Given the description of an element on the screen output the (x, y) to click on. 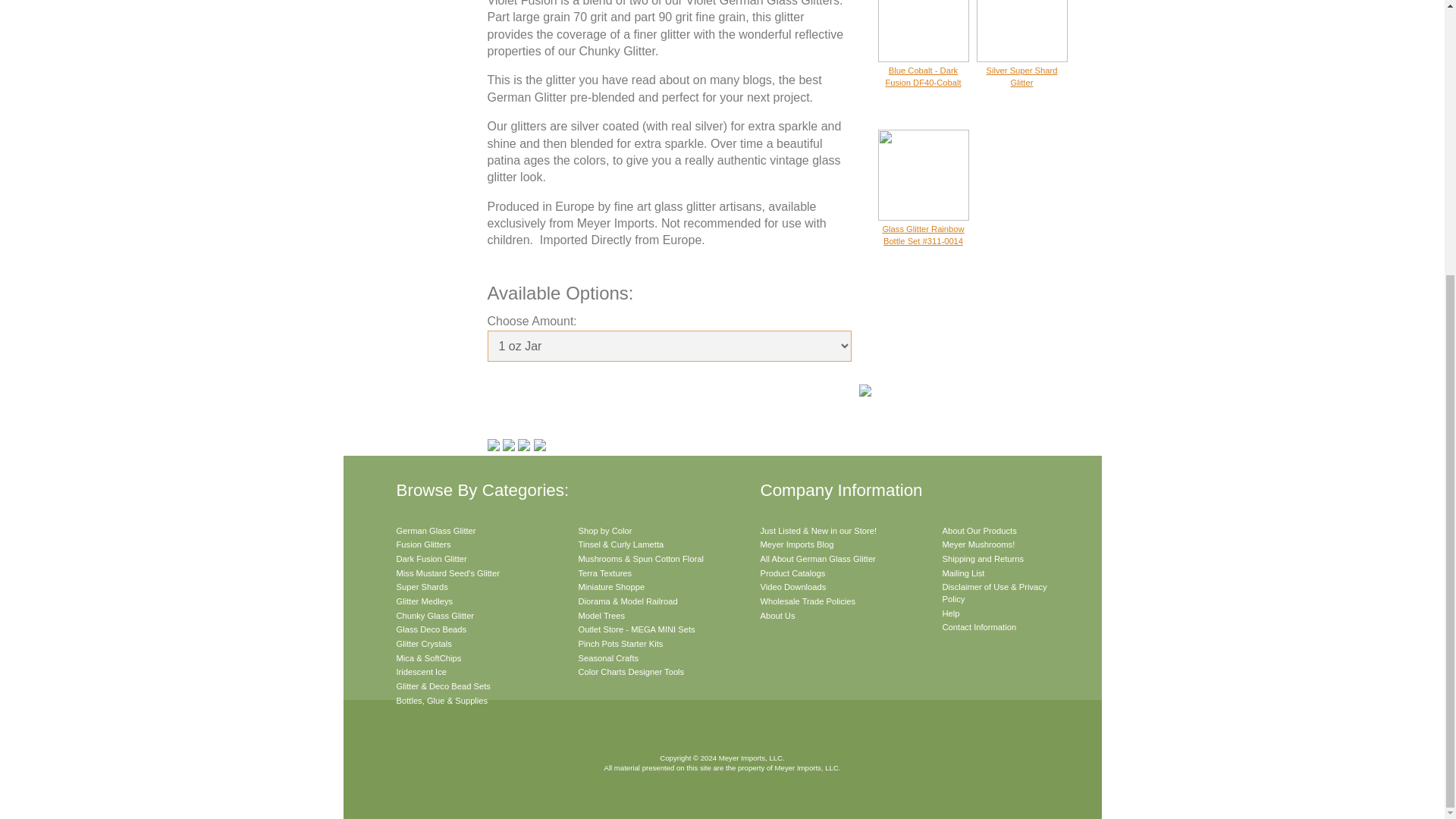
Fusion Glitters (422, 543)
Chunky Glass Glitter (435, 614)
Silver Super Shard Glitter (1021, 66)
German Glass Glitter (436, 530)
Add to Cart (543, 394)
Dark Fusion Glitter (430, 558)
Miss Mustard Seed's Glitter (447, 573)
Super Shards (421, 586)
Add to Cart (543, 394)
Glitter Medleys (424, 601)
Blue Cobalt - Dark Fusion DF40-Cobalt (923, 66)
